Given the description of an element on the screen output the (x, y) to click on. 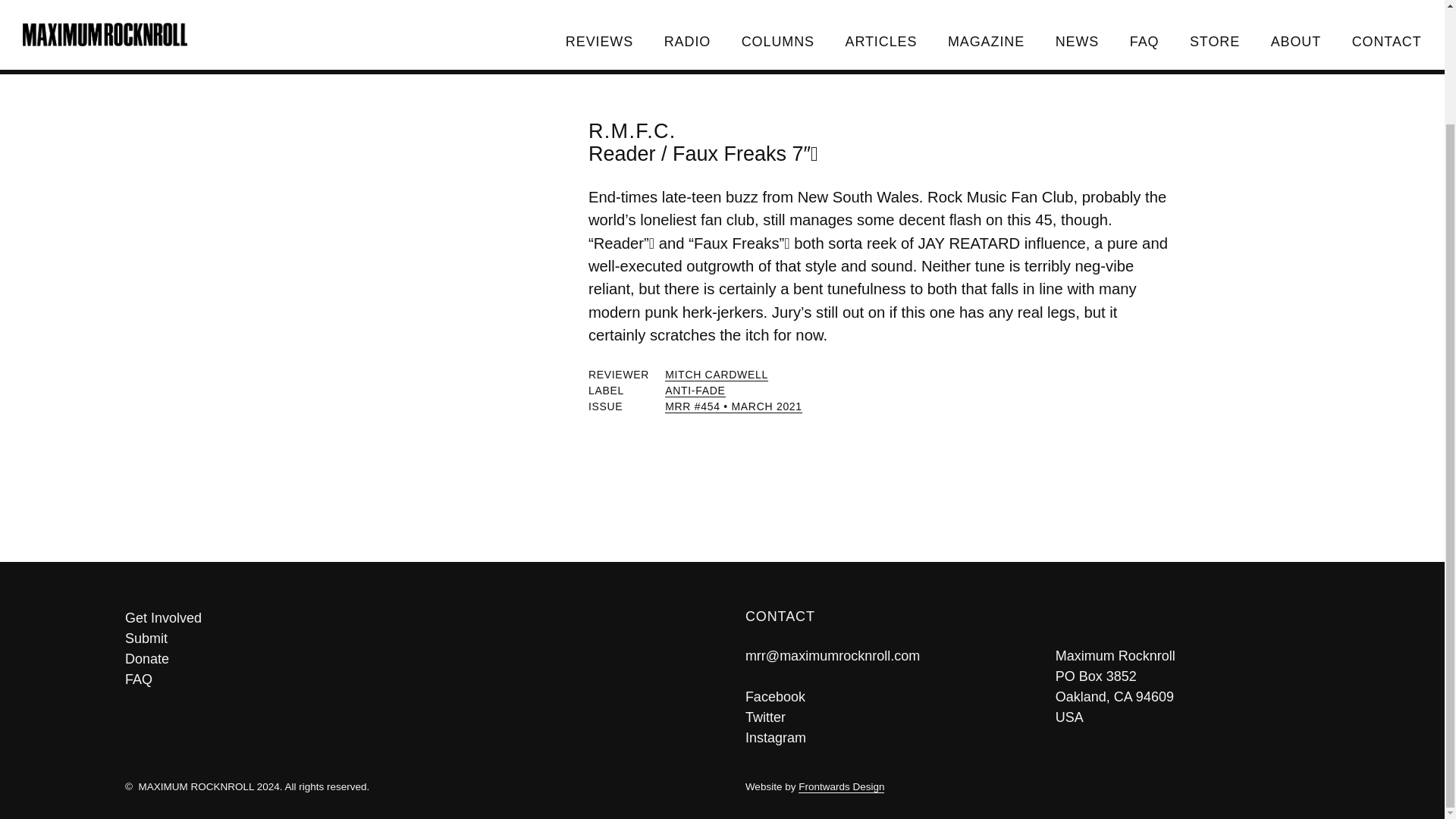
FAQ (411, 679)
Facebook (775, 696)
Twitter (765, 717)
MITCH CARDWELL (716, 374)
R.M.F.C. (632, 130)
ANTI-FADE (695, 390)
Submit (411, 638)
Get Involved (411, 618)
Frontwards Design (840, 787)
Donate (411, 659)
